Given the description of an element on the screen output the (x, y) to click on. 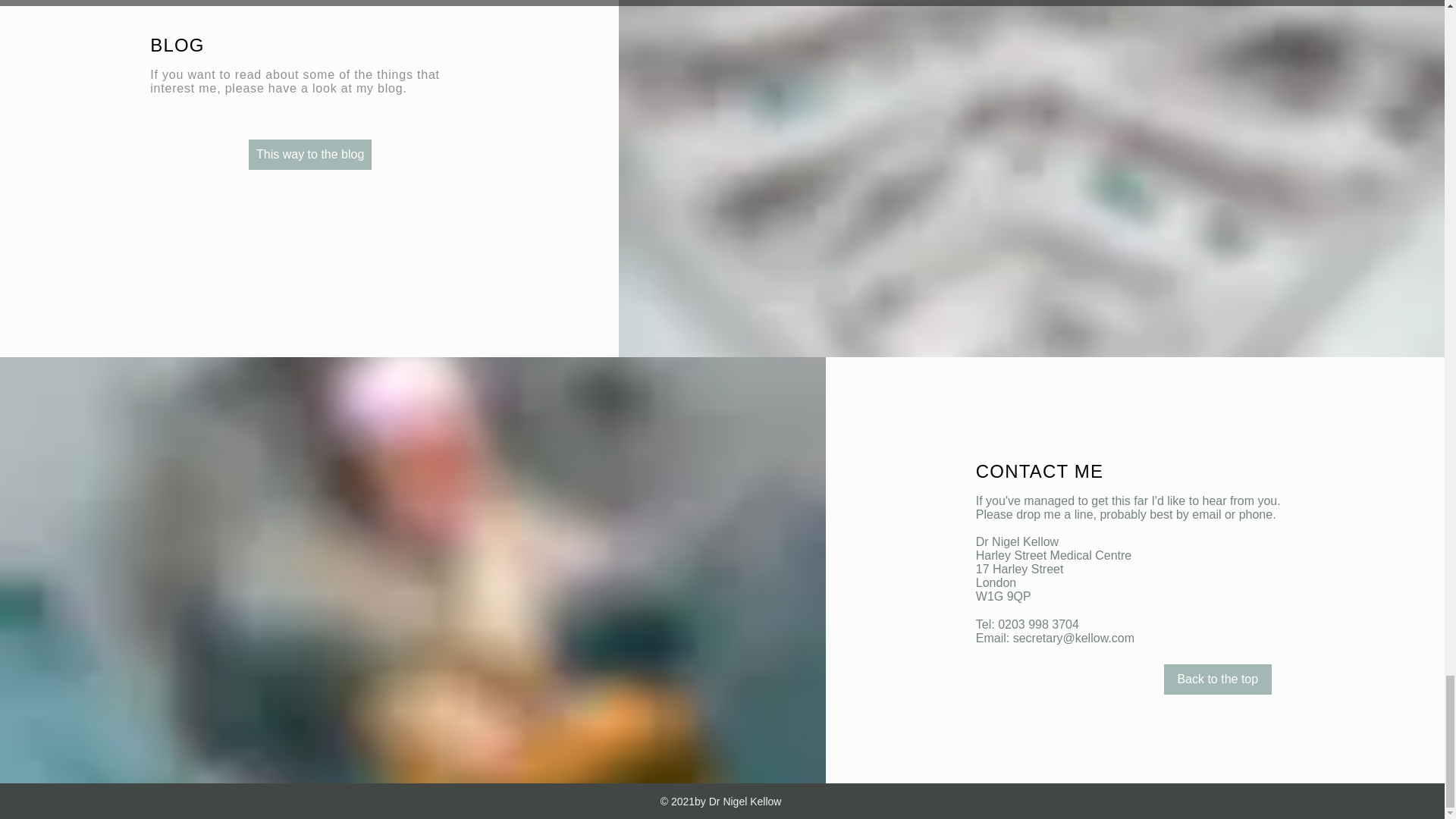
Back to the top (1217, 679)
